Given the description of an element on the screen output the (x, y) to click on. 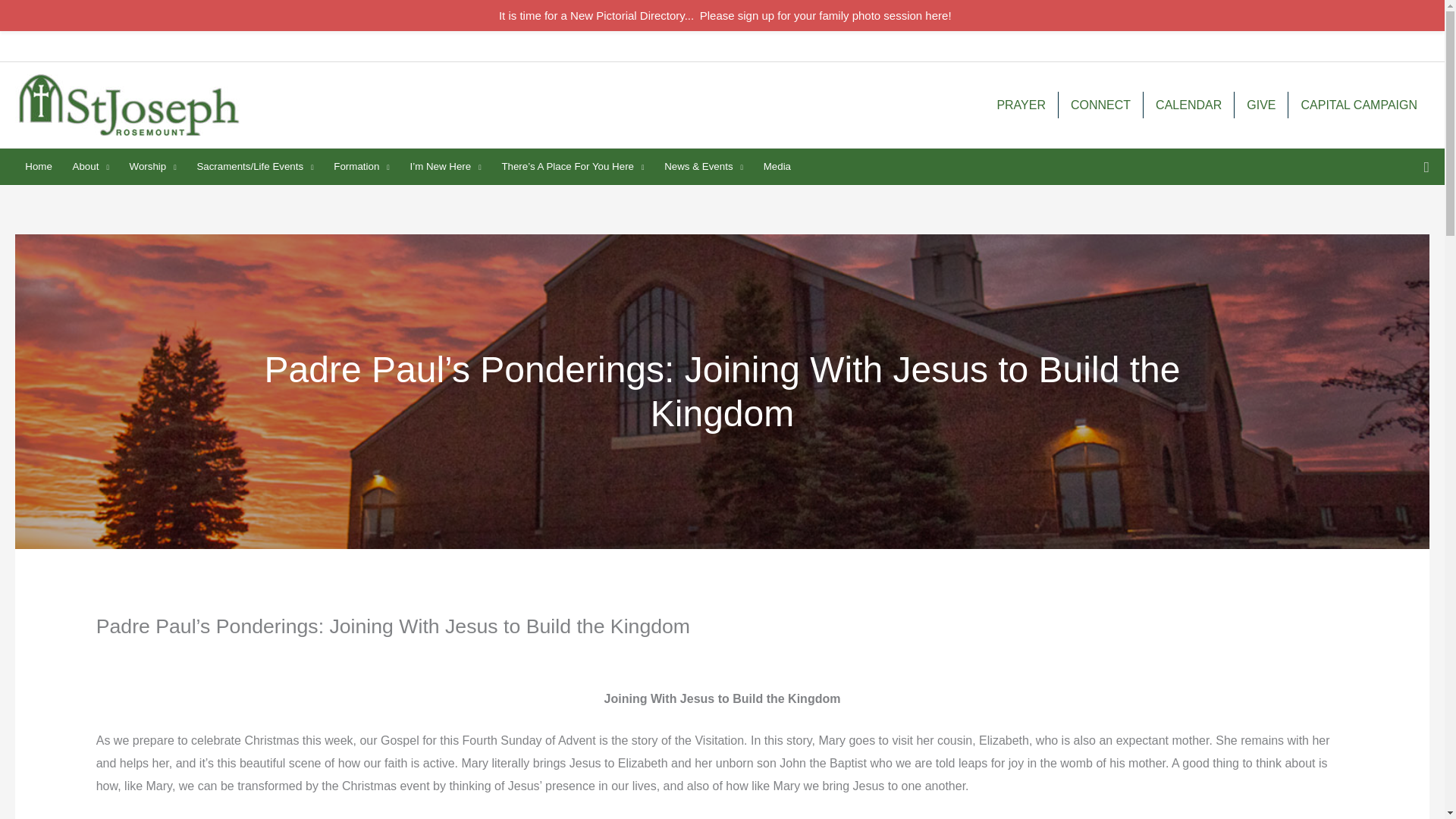
Calendar (1187, 104)
Connect (1100, 104)
School Website (1270, 46)
Homilies (1340, 46)
GIVE (1260, 104)
Give (1260, 104)
Blog (1387, 46)
Prayer (1021, 104)
Capital Campaign (1358, 104)
Blog (1387, 46)
